Given the description of an element on the screen output the (x, y) to click on. 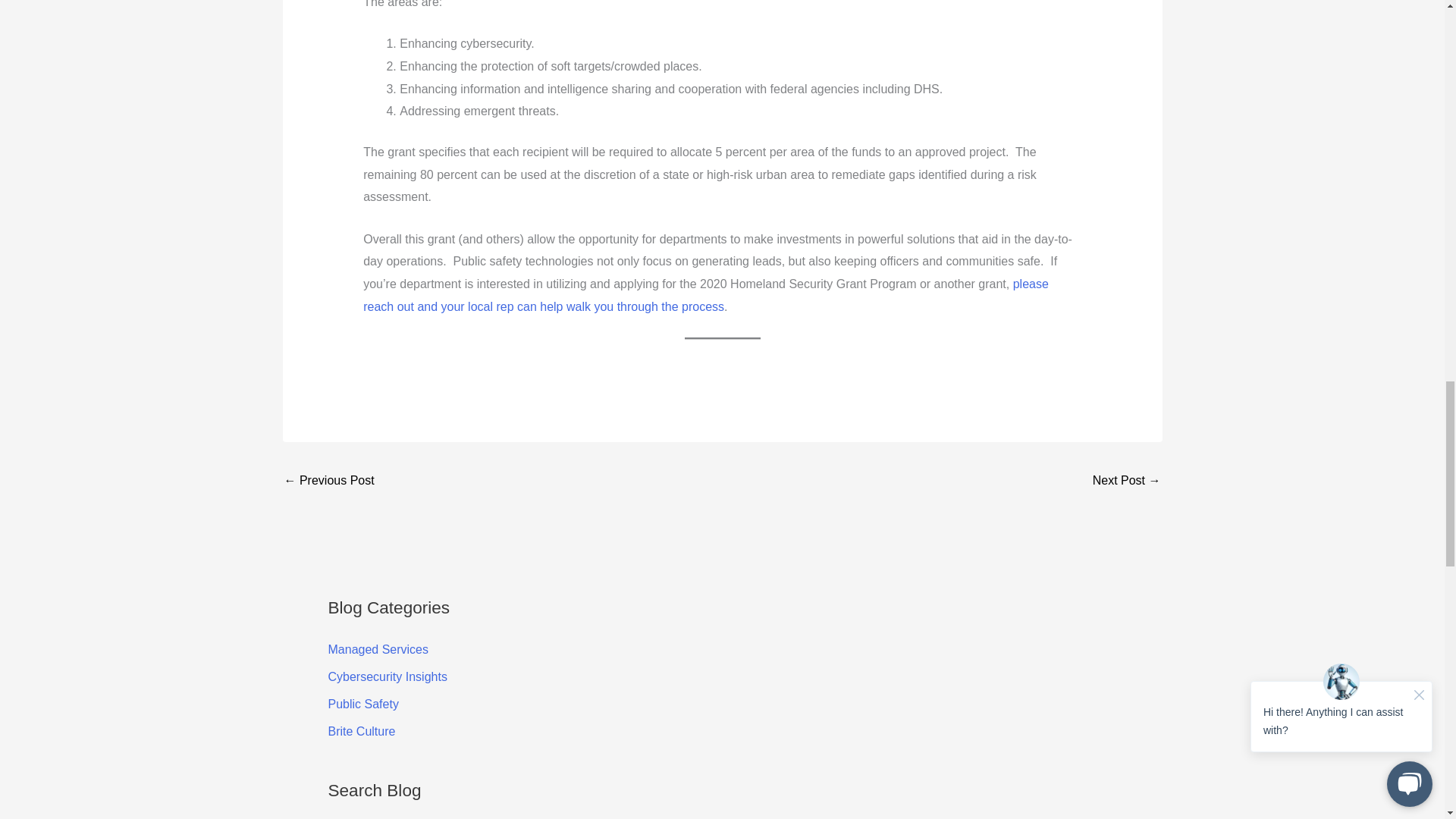
BTS: The BriteStar MSP Onboarding Process (1126, 481)
8 Tips for Securing Remote Workers: SMB Edition (328, 481)
